Given the description of an element on the screen output the (x, y) to click on. 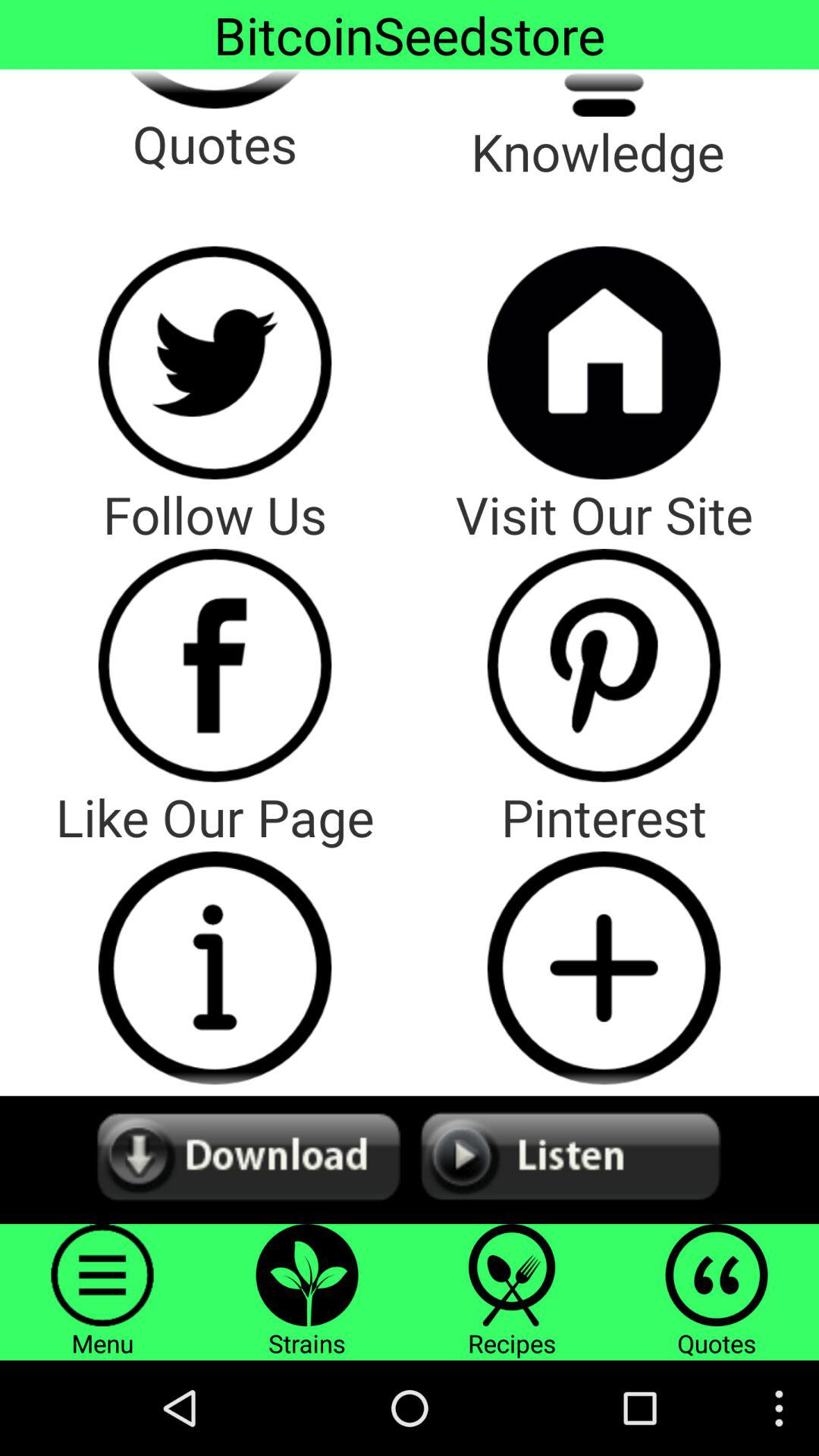
go to pinterest (603, 665)
